Given the description of an element on the screen output the (x, y) to click on. 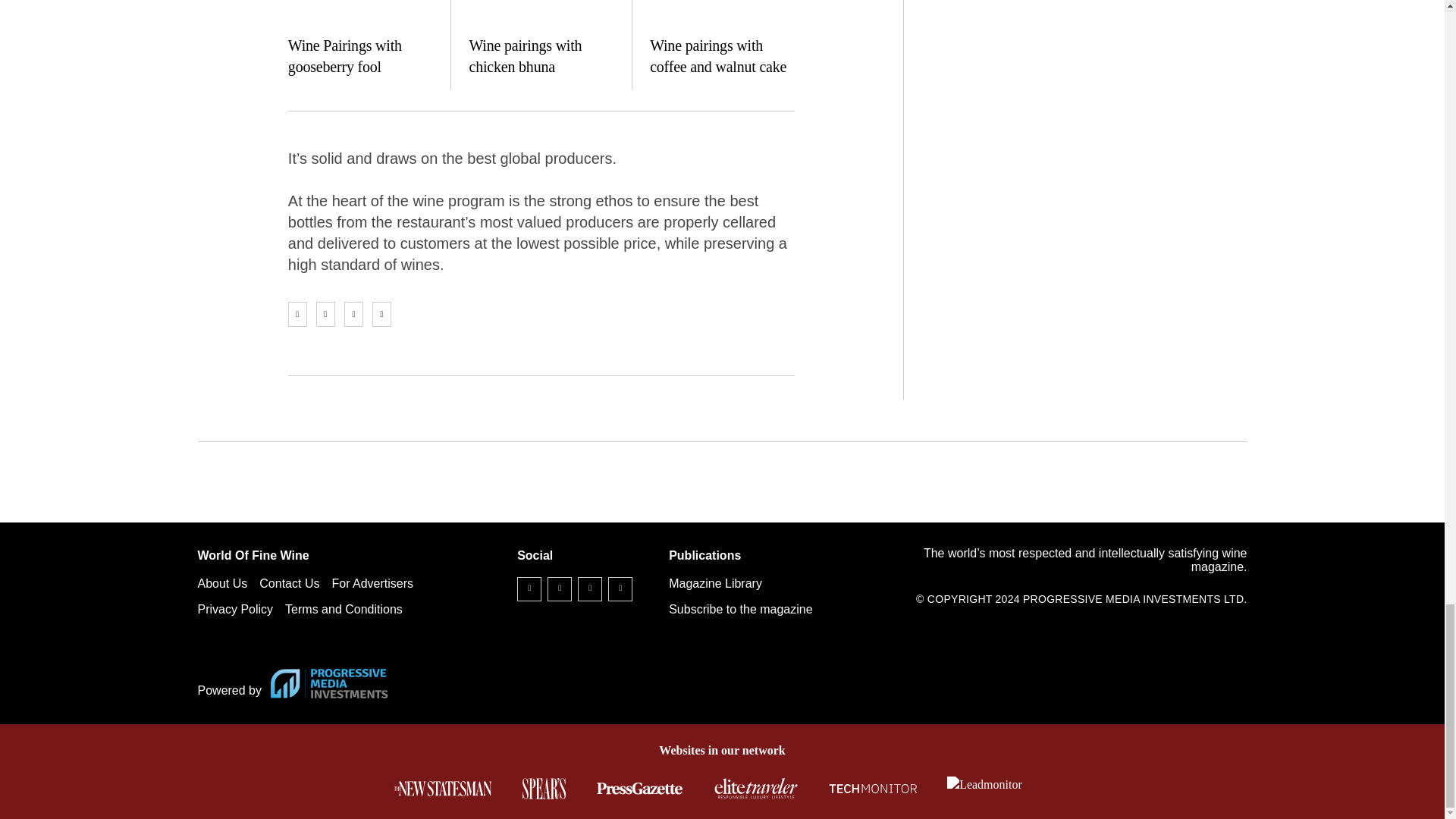
Follow us on Twitter (559, 588)
Wine Pairings with gooseberry fool (344, 55)
Follow us on Facebook (528, 588)
Wine Pairings with gooseberry fool (360, 14)
